Given the description of an element on the screen output the (x, y) to click on. 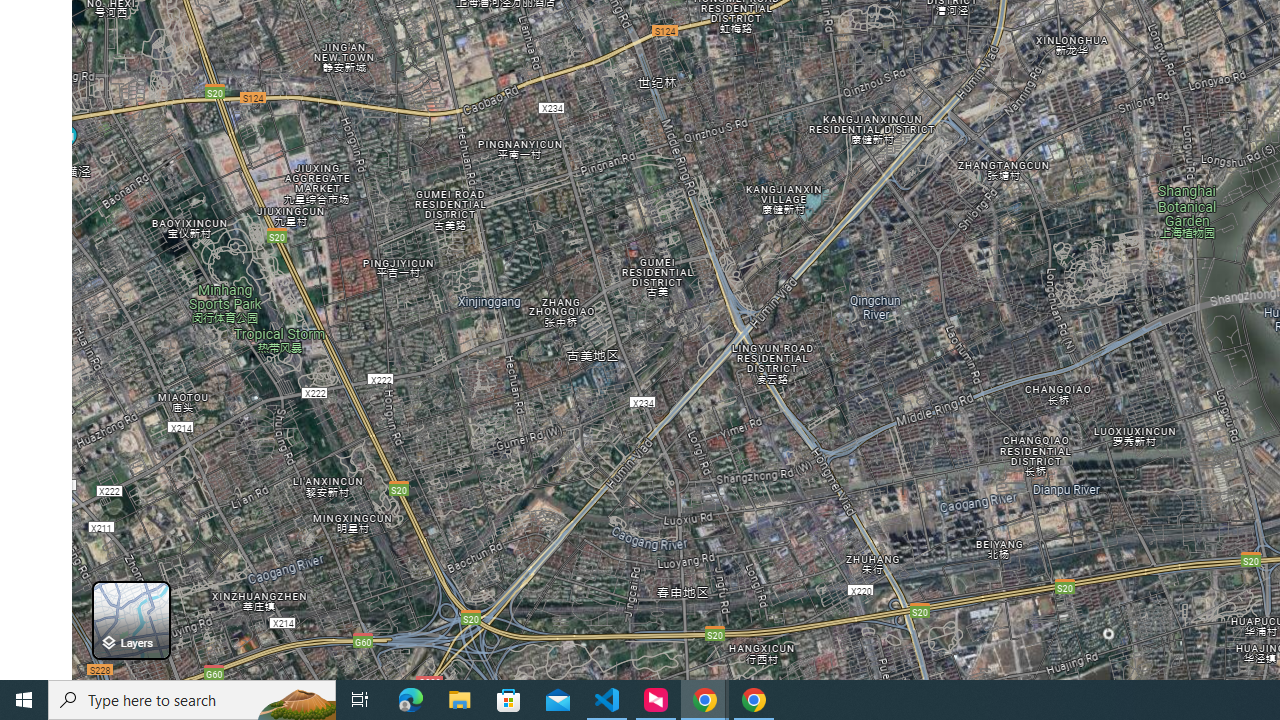
Layers (130, 620)
